Given the description of an element on the screen output the (x, y) to click on. 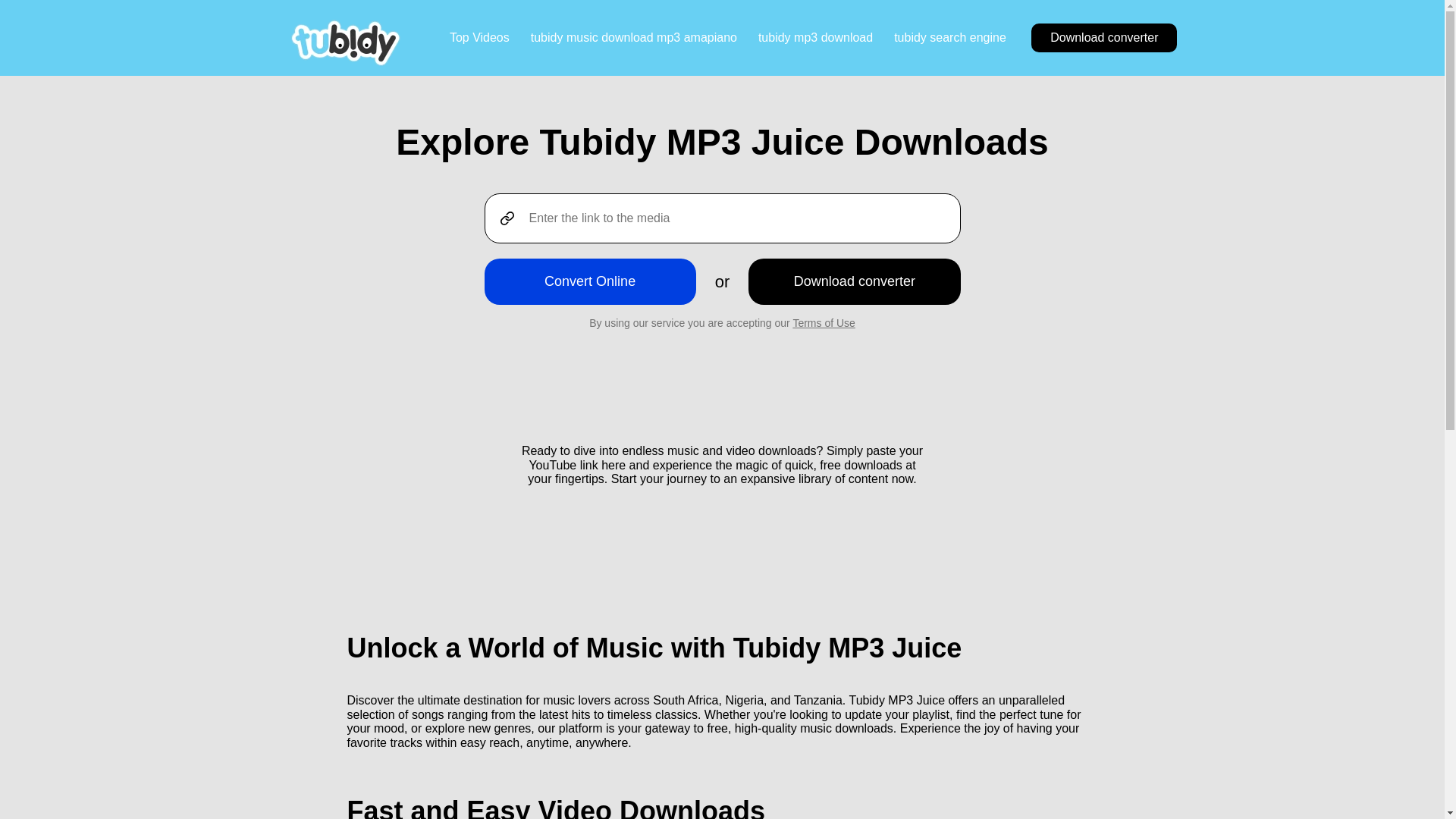
Convert Online (589, 281)
Download converter (1103, 37)
Terms of Use (823, 322)
tubidy search engine (949, 37)
Download converter (853, 281)
tubidy music download mp3 amapiano (633, 37)
tubidy mp3 download (815, 37)
Top Videos (479, 37)
